Given the description of an element on the screen output the (x, y) to click on. 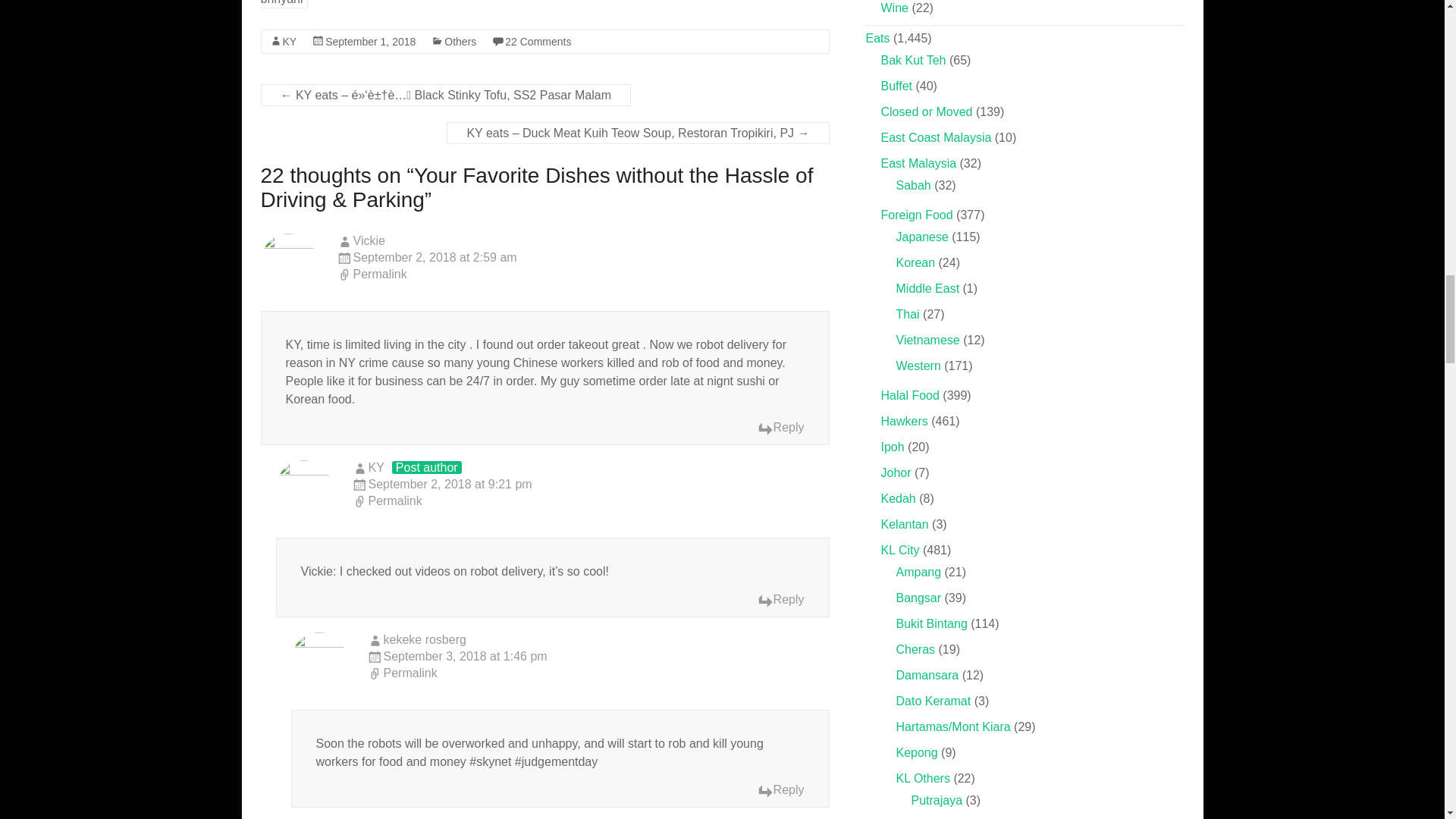
Reply (781, 428)
Others (460, 41)
nasi brinyani (541, 4)
KY (289, 41)
KY (376, 467)
Permalink (582, 274)
Permalink (590, 501)
September 1, 2018 (369, 41)
22 Comments (537, 41)
Reply (781, 600)
12:48 am (369, 41)
